Given the description of an element on the screen output the (x, y) to click on. 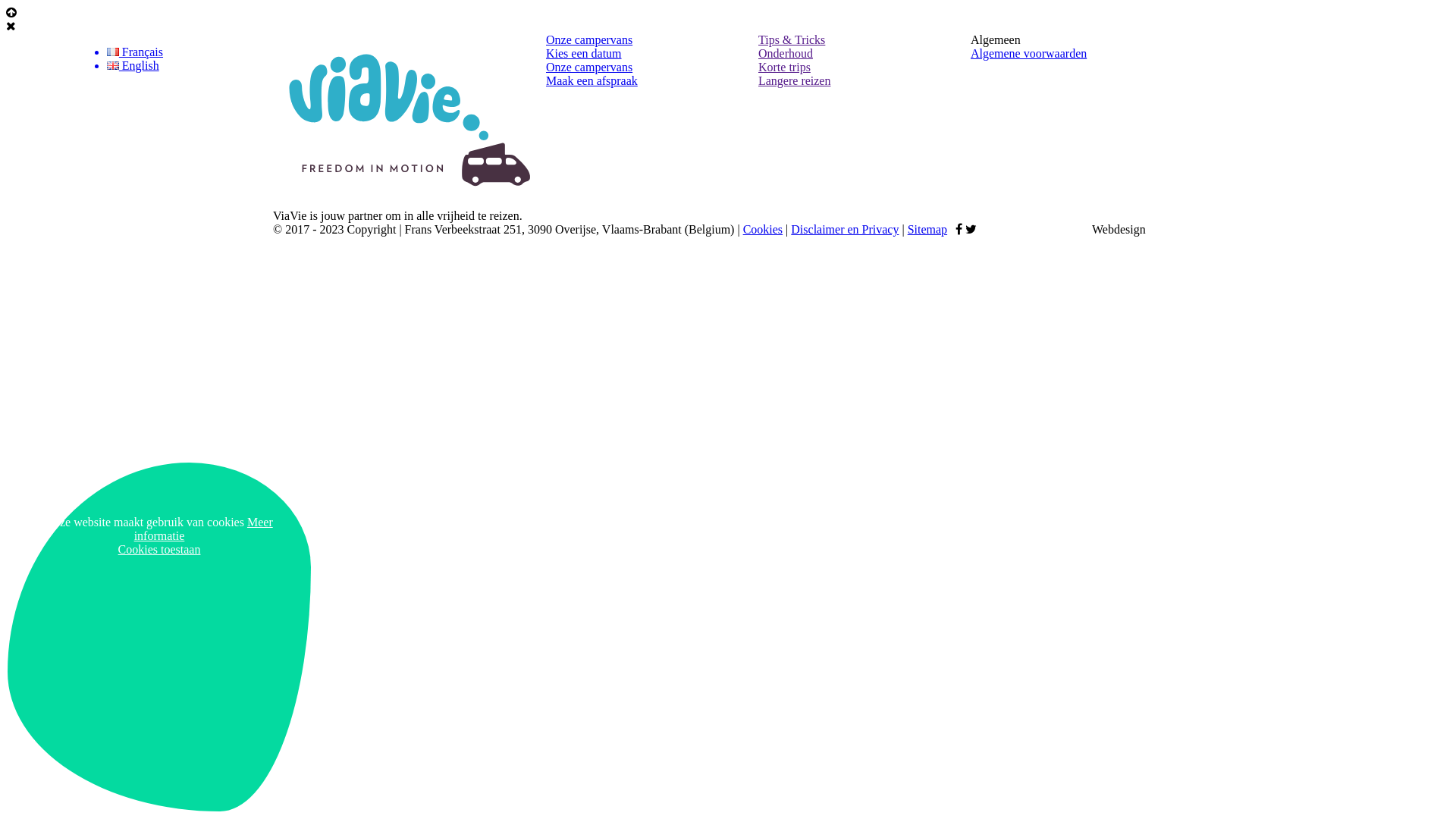
Kies een datum Element type: text (583, 53)
Onze campervans Element type: text (589, 39)
Sitemap Element type: text (927, 228)
Cookies toestaan Element type: text (159, 548)
Onze campervans Element type: text (589, 66)
Cookies Element type: text (762, 228)
English Element type: hover (112, 65)
Webdesign Element type: text (1137, 229)
Maak een afspraak Element type: text (591, 80)
Meer informatie Element type: text (203, 528)
Algemene voorwaarden Element type: text (1028, 53)
Tips & Tricks Element type: text (791, 39)
English Element type: text (216, 65)
Disclaimer en Privacy Element type: text (844, 228)
Korte trips Element type: text (784, 66)
Onderhoud Element type: text (785, 53)
Langere reizen Element type: text (794, 80)
